Given the description of an element on the screen output the (x, y) to click on. 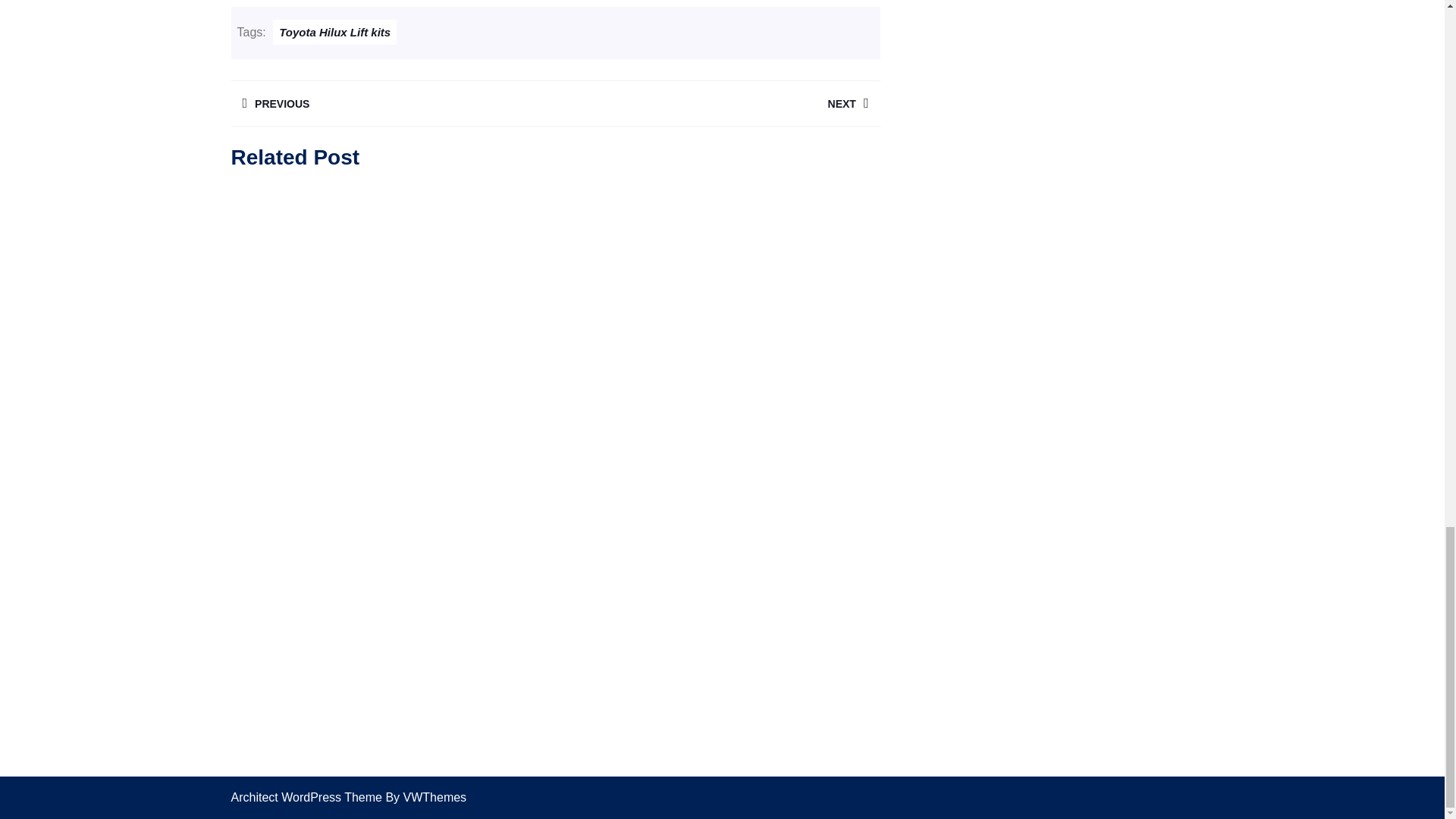
Toyota Hilux Lift kits (334, 32)
